Given the description of an element on the screen output the (x, y) to click on. 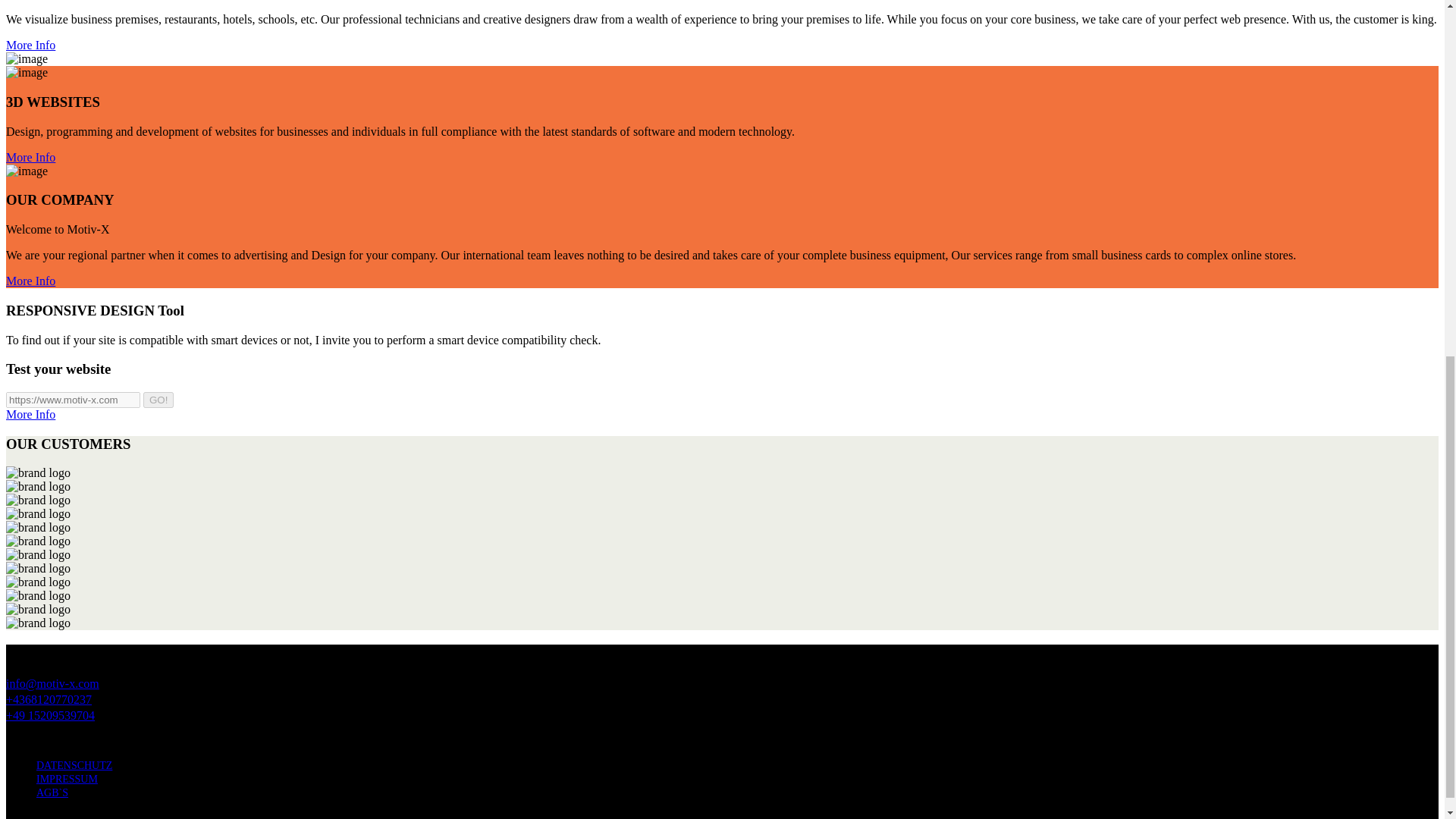
GO! (157, 399)
More Info (30, 413)
More Info (30, 280)
IMPRESSUM (66, 778)
DATENSCHUTZ (74, 765)
More Info (30, 156)
More Info (30, 44)
